Given the description of an element on the screen output the (x, y) to click on. 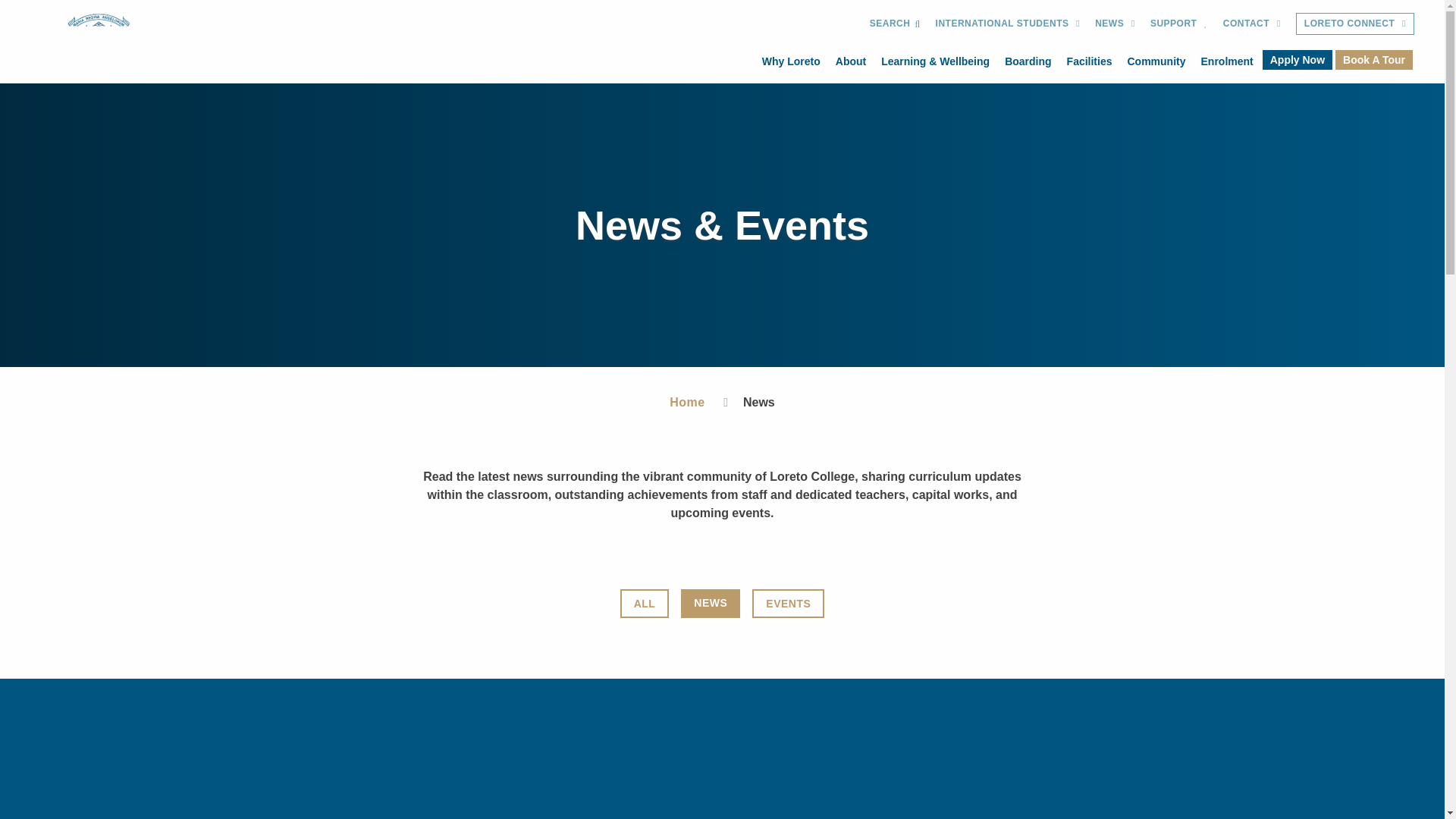
About (850, 62)
Boarding (1027, 62)
2025 Term Dates (539, 748)
NEWS (1114, 23)
2025 Term Dates (541, 748)
CONTACT (1251, 23)
SEARCH (894, 23)
Student Spotlight: Fearne Rosenbauer, Head Girl (902, 748)
LORETO CONNECT (1355, 23)
INTERNATIONAL STUDENTS (1007, 23)
SUPPORT (1178, 23)
Why Loreto (791, 62)
Student Spotlight: Fearne Rosenbauer, Head Girl (900, 748)
